Given the description of an element on the screen output the (x, y) to click on. 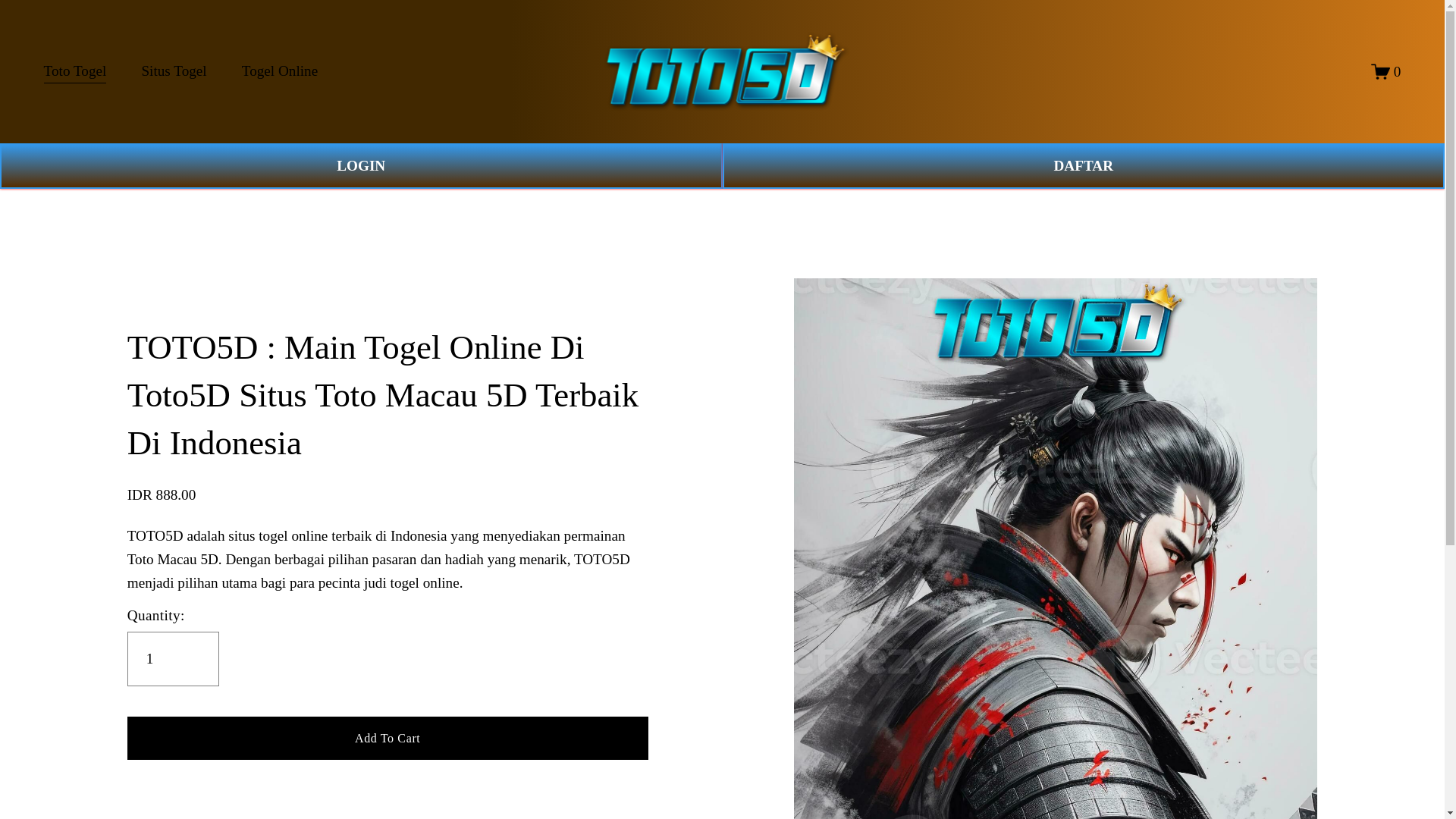
1 (173, 658)
Togel Online (279, 71)
Add To Cart (387, 737)
0 (1385, 71)
LOGIN (361, 166)
Situs Togel (173, 71)
Toto Togel (74, 71)
